Given the description of an element on the screen output the (x, y) to click on. 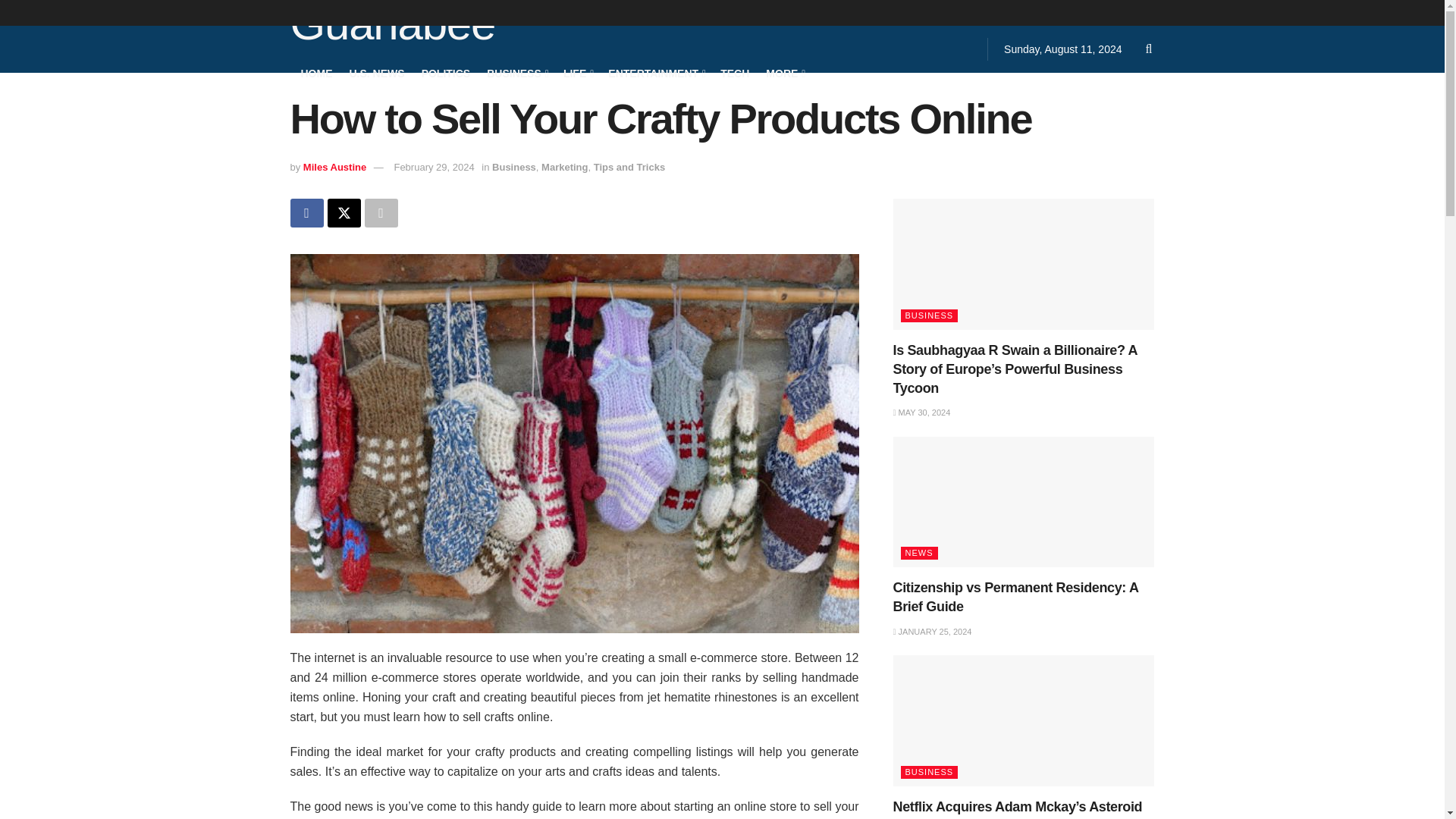
Marketing (564, 166)
Guanabee (392, 25)
Tips and Tricks (629, 166)
Miles Austine (334, 166)
ENTERTAINMENT (655, 73)
U.S. NEWS (376, 73)
BUSINESS (516, 73)
February 29, 2024 (433, 166)
POLITICS (446, 73)
Business (513, 166)
